Given the description of an element on the screen output the (x, y) to click on. 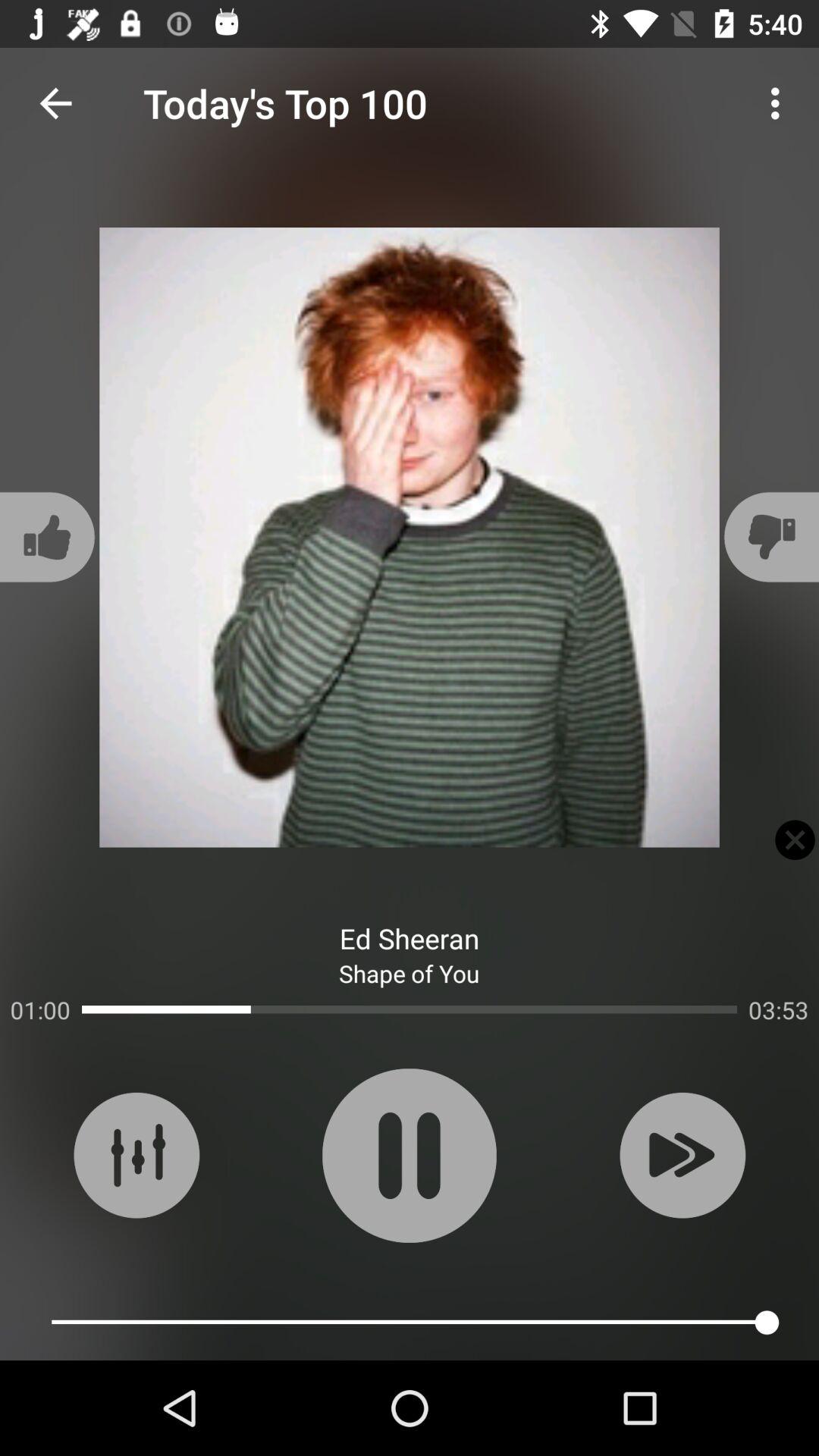
click on the image of boy (409, 537)
